Given the description of an element on the screen output the (x, y) to click on. 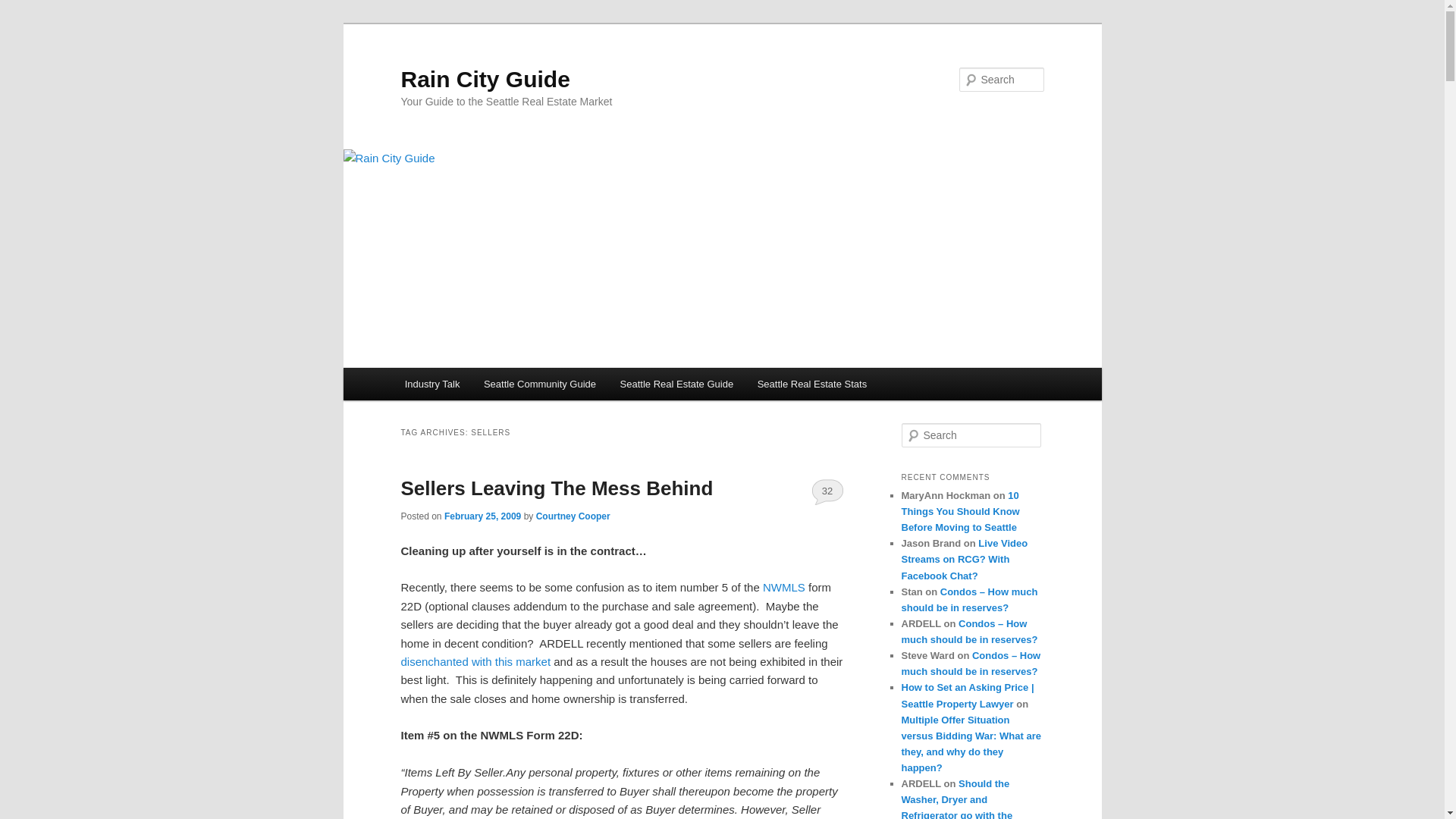
Search (24, 8)
View all posts by Courtney Cooper (572, 516)
Industry Talk (432, 383)
12:09 pm (482, 516)
Rain City Guide (484, 78)
